Given the description of an element on the screen output the (x, y) to click on. 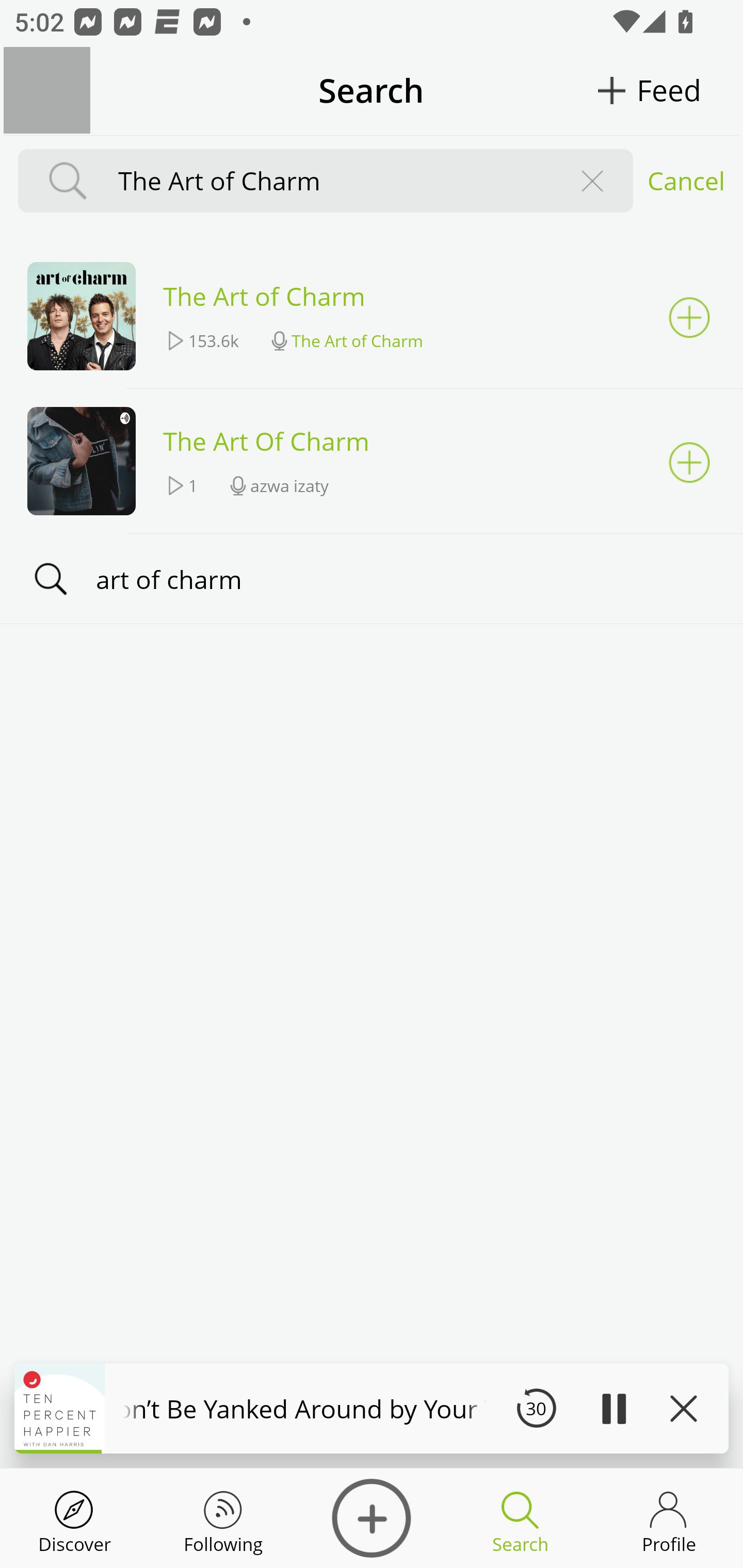
Back (46, 90)
Feed (668, 90)
Cancel (686, 180)
The Art of Charm (330, 180)
The Art of Charm 153.6k The Art of Charm (371, 316)
The Art Of Charm 1 azwa izaty (371, 460)
art of charm (371, 578)
Play (613, 1407)
30 Seek Backward (536, 1407)
Discover (74, 1518)
Discover Following (222, 1518)
Discover (371, 1518)
Discover Profile (668, 1518)
